Given the description of an element on the screen output the (x, y) to click on. 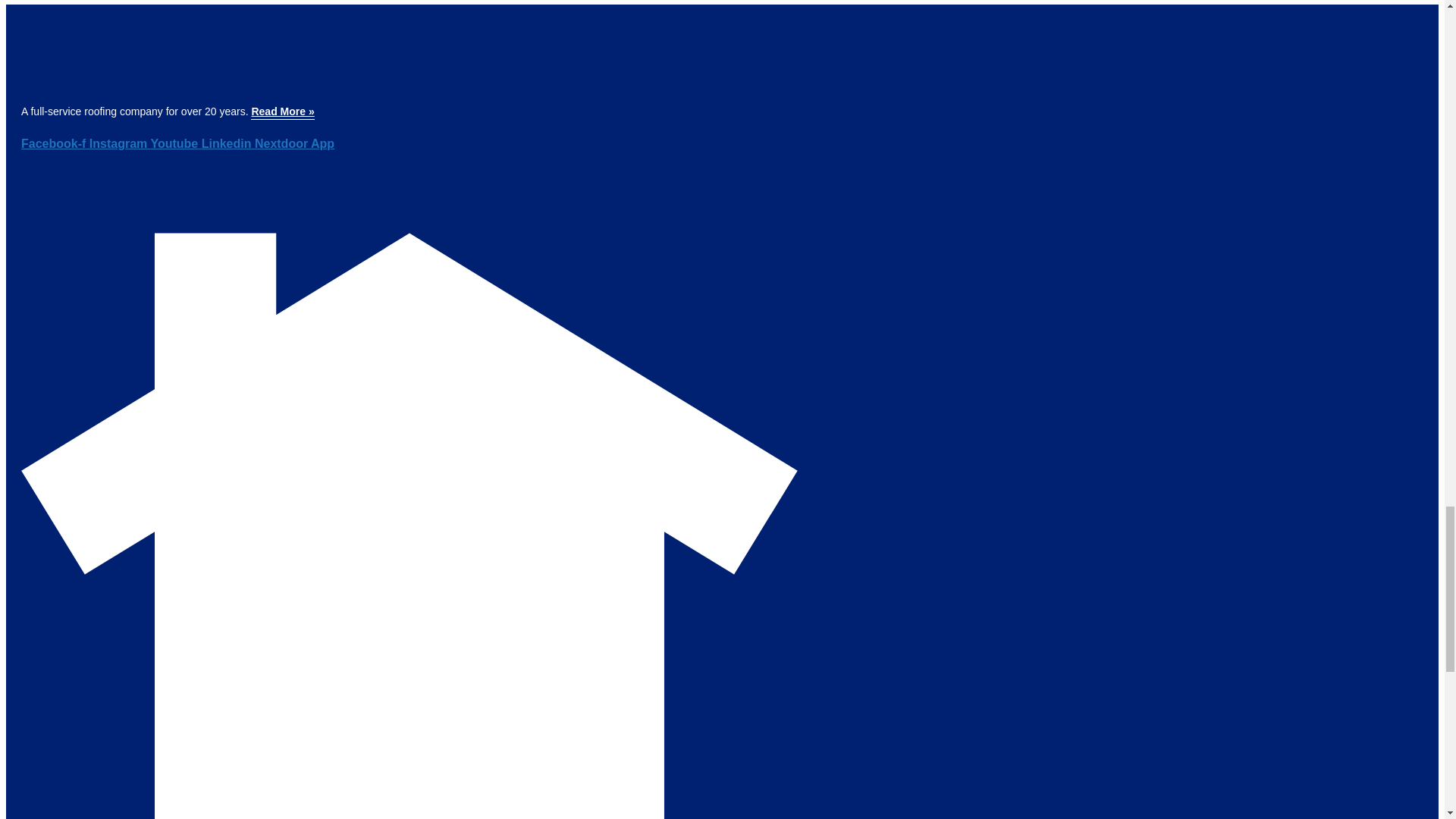
mueller-builders-logo-white-stacked (49, 62)
